Given the description of an element on the screen output the (x, y) to click on. 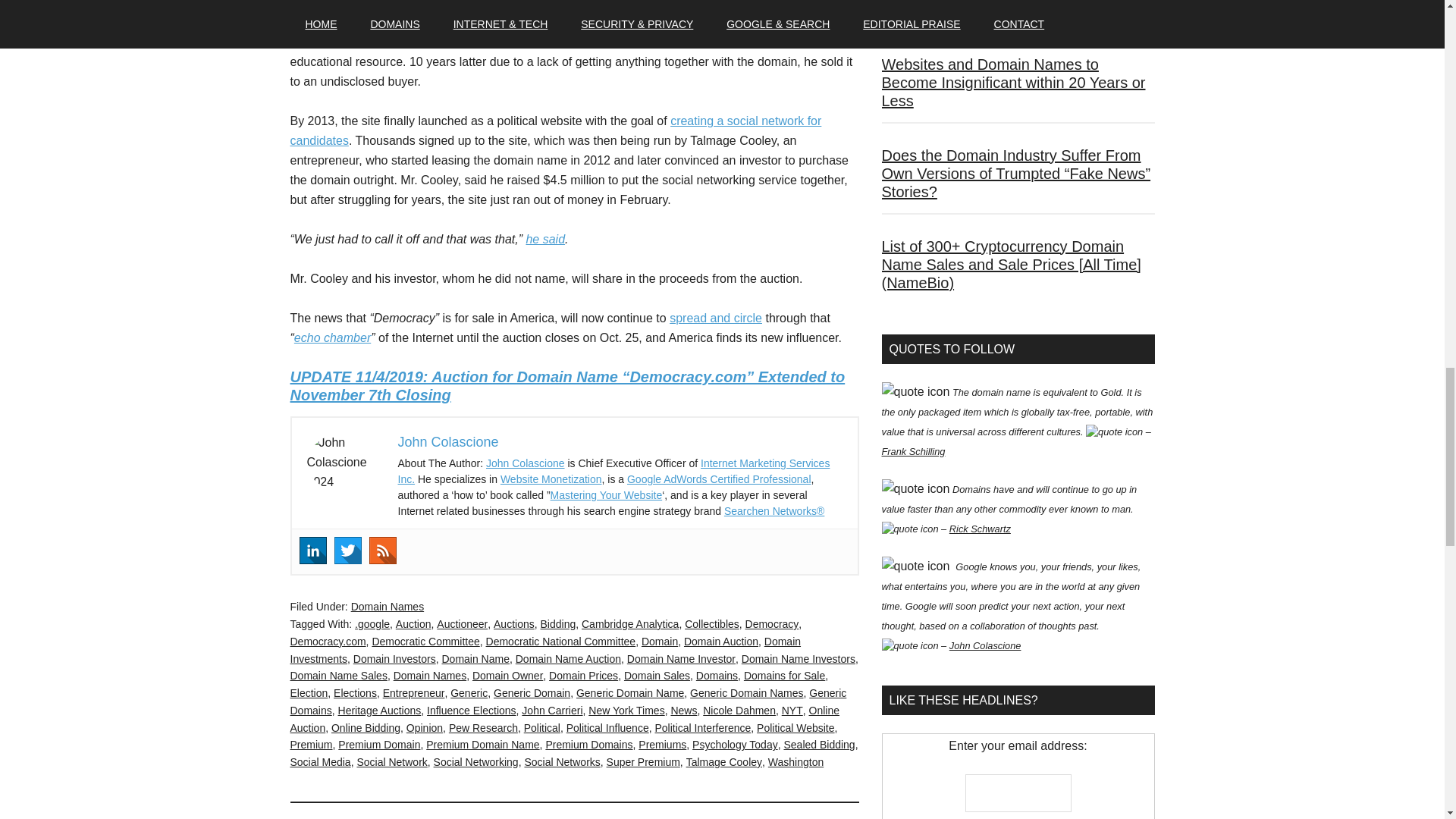
Linkedin (312, 550)
he said (544, 238)
Website Monetization (551, 479)
creating a social network for candidates (555, 130)
John Colascione (525, 463)
echo chamber (332, 337)
Twitter (347, 550)
spread and circle (715, 318)
Rss (382, 550)
Internet Marketing Services Inc. (613, 471)
John Colascione (447, 441)
